Given the description of an element on the screen output the (x, y) to click on. 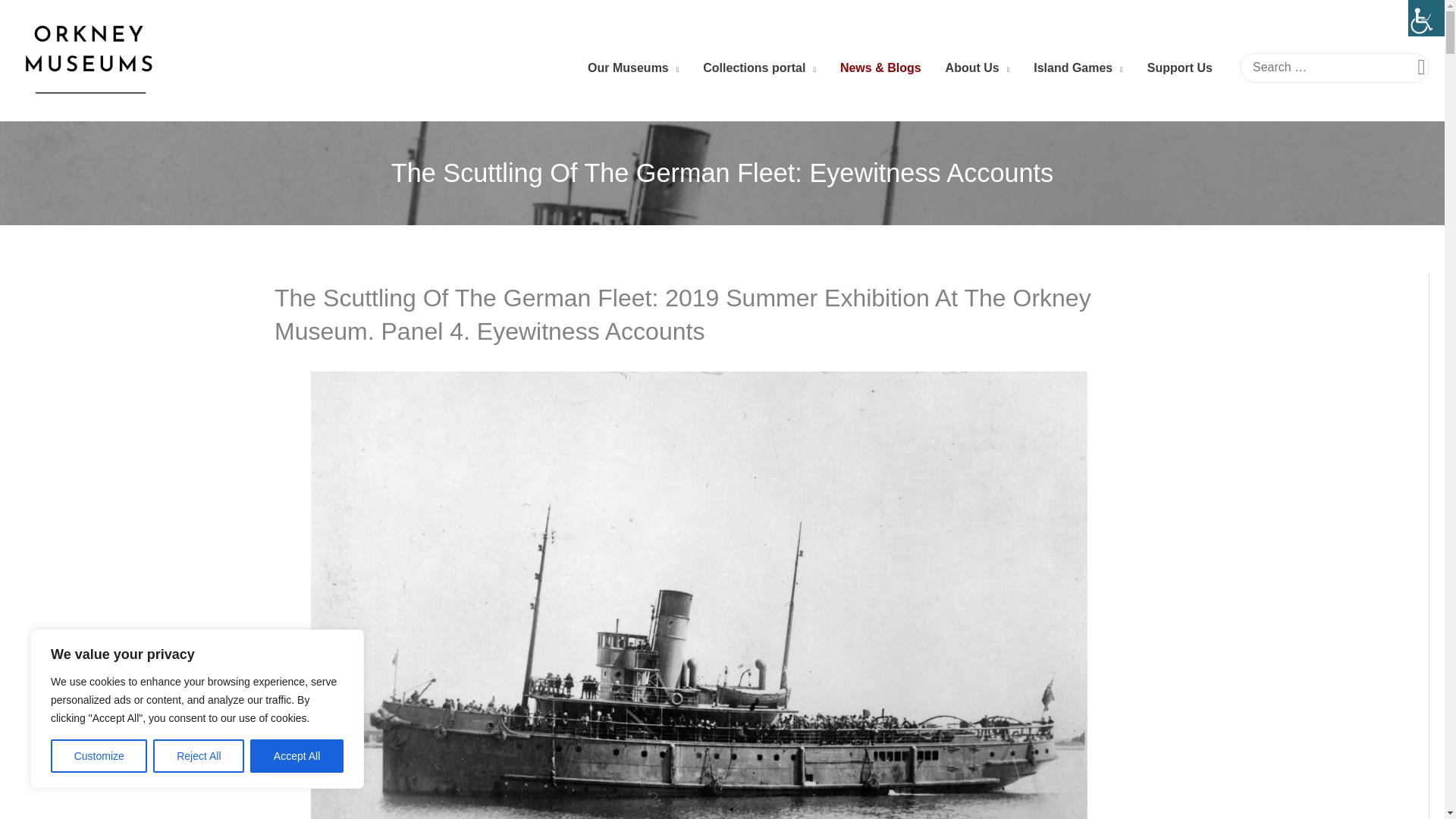
Reject All (198, 756)
Customize (98, 756)
Collections portal (759, 67)
Our Museums (632, 67)
Accept All (296, 756)
